Given the description of an element on the screen output the (x, y) to click on. 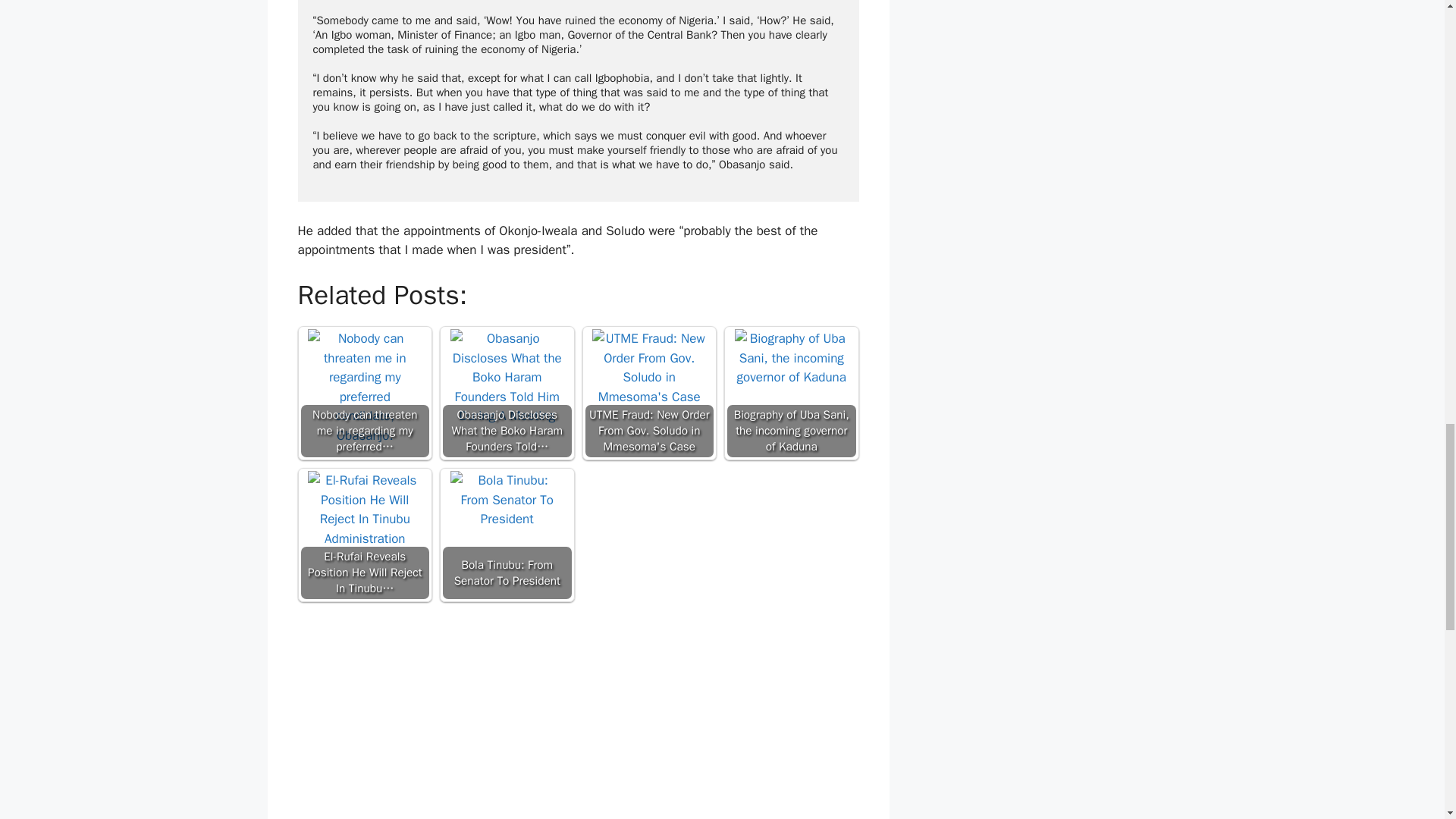
Biography of Uba Sani, the incoming governor of Kaduna (792, 392)
UTME Fraud: New Order From Gov. Soludo in Mmesoma's Case (649, 386)
Biography of Uba Sani, the incoming governor of Kaduna (791, 386)
Bola Tinubu: From Senator To President (506, 527)
Bola Tinubu: From Senator To President (507, 534)
UTME Fraud: New Order From Gov. Soludo in Mmesoma's Case (649, 392)
Advertisement (578, 714)
